Given the description of an element on the screen output the (x, y) to click on. 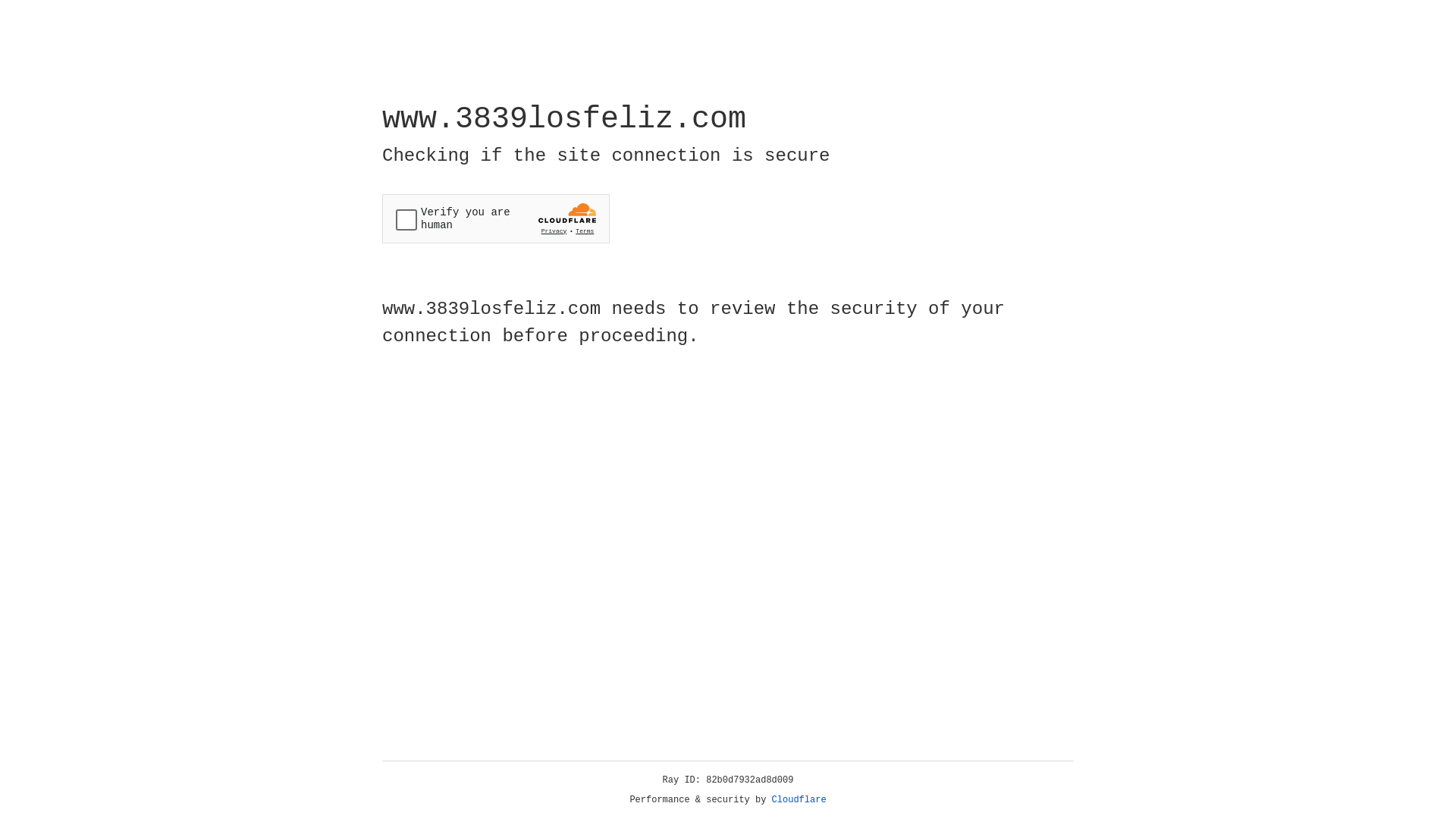
Cloudflare Element type: text (798, 799)
Widget containing a Cloudflare security challenge Element type: hover (495, 218)
